Given the description of an element on the screen output the (x, y) to click on. 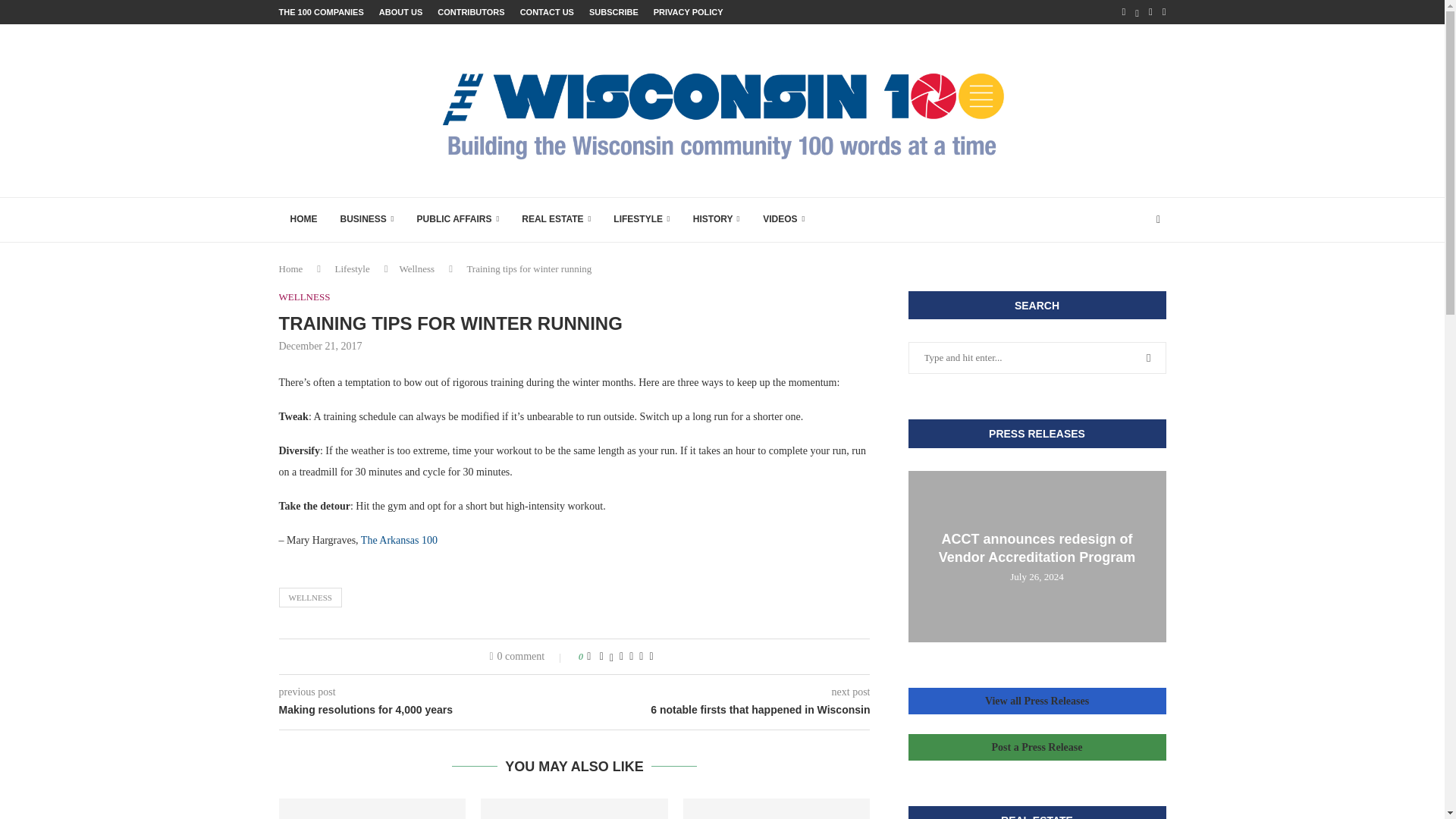
HISTORY (716, 219)
BUSINESS (367, 219)
6 notable firsts that happened in Wisconsin (722, 710)
REAL ESTATE (556, 219)
Wellness (415, 268)
SUBSCRIBE (614, 12)
HOME (304, 219)
CONTACT US (546, 12)
Home (290, 268)
